Given the description of an element on the screen output the (x, y) to click on. 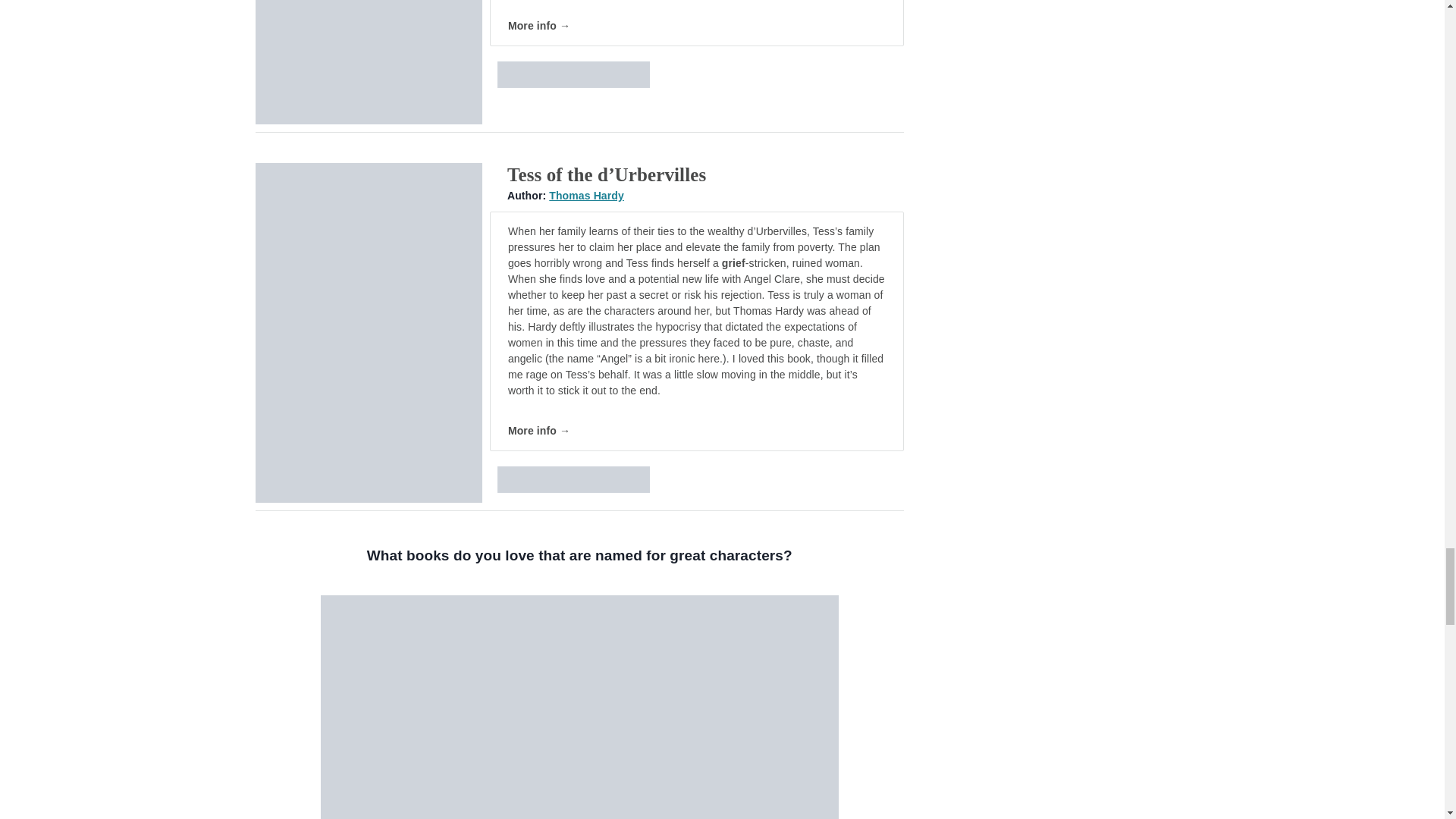
grief (733, 263)
